Given the description of an element on the screen output the (x, y) to click on. 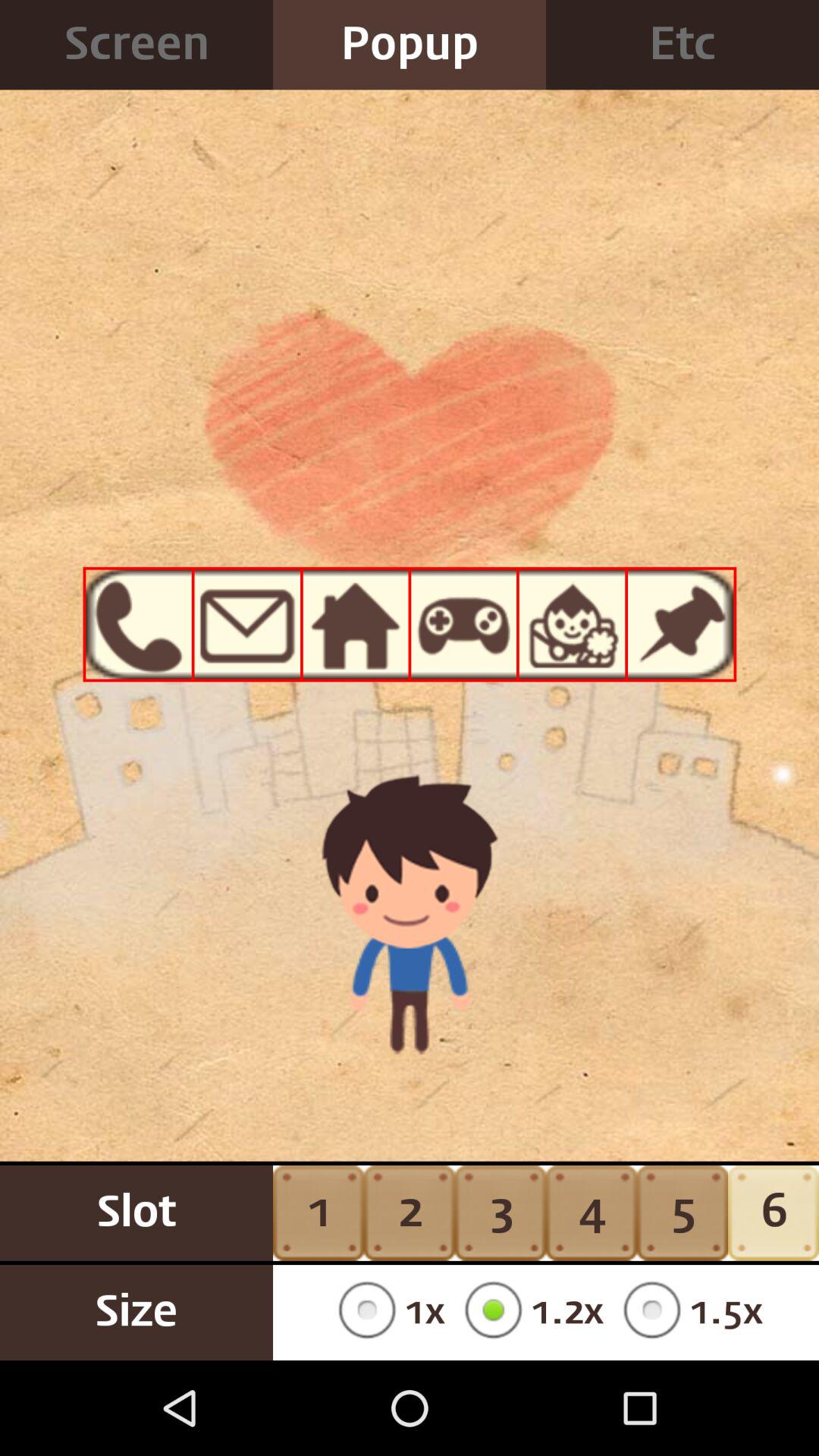
select the item next to the etc icon (409, 44)
